Given the description of an element on the screen output the (x, y) to click on. 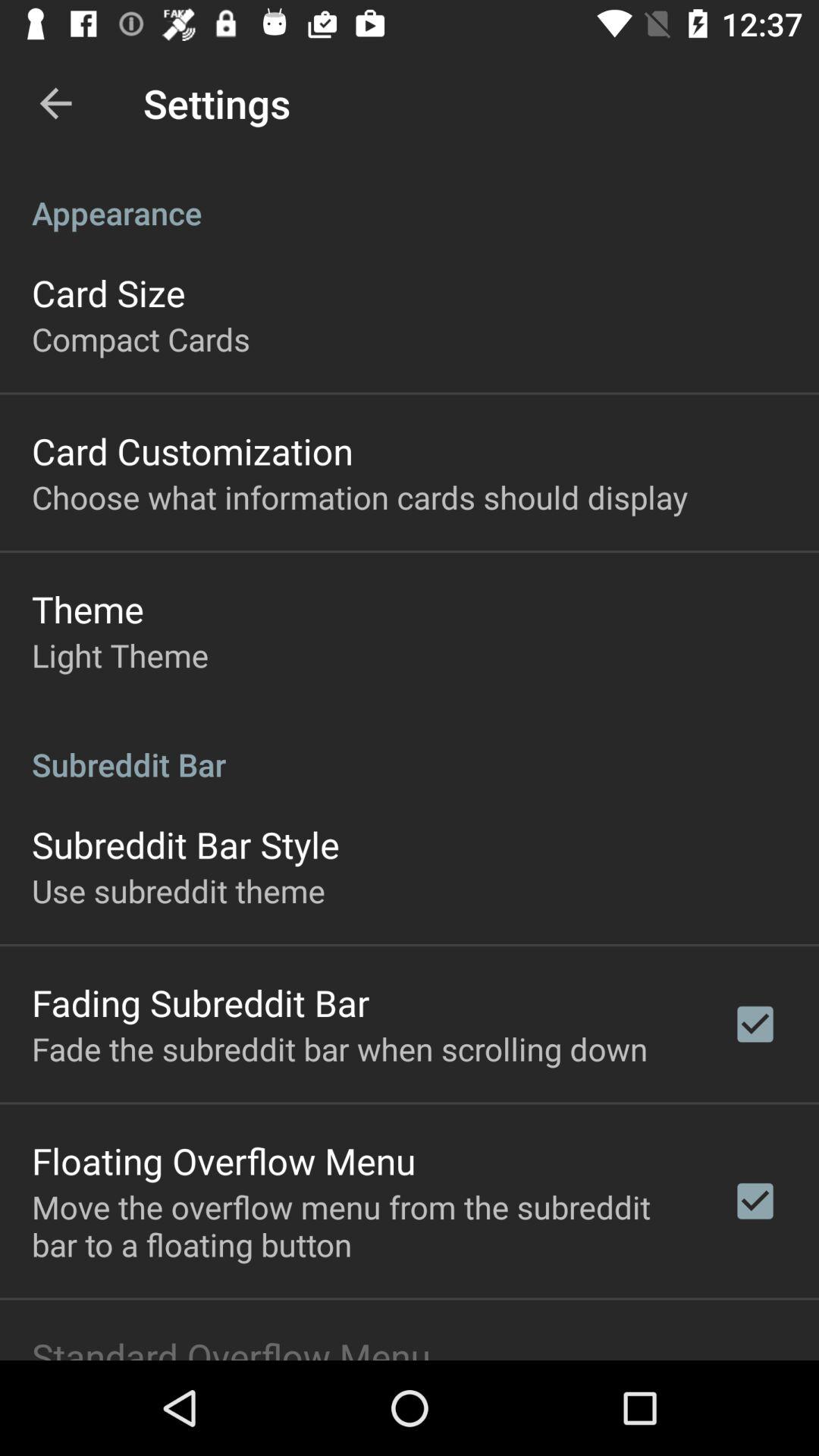
choose use subreddit theme (178, 890)
